Given the description of an element on the screen output the (x, y) to click on. 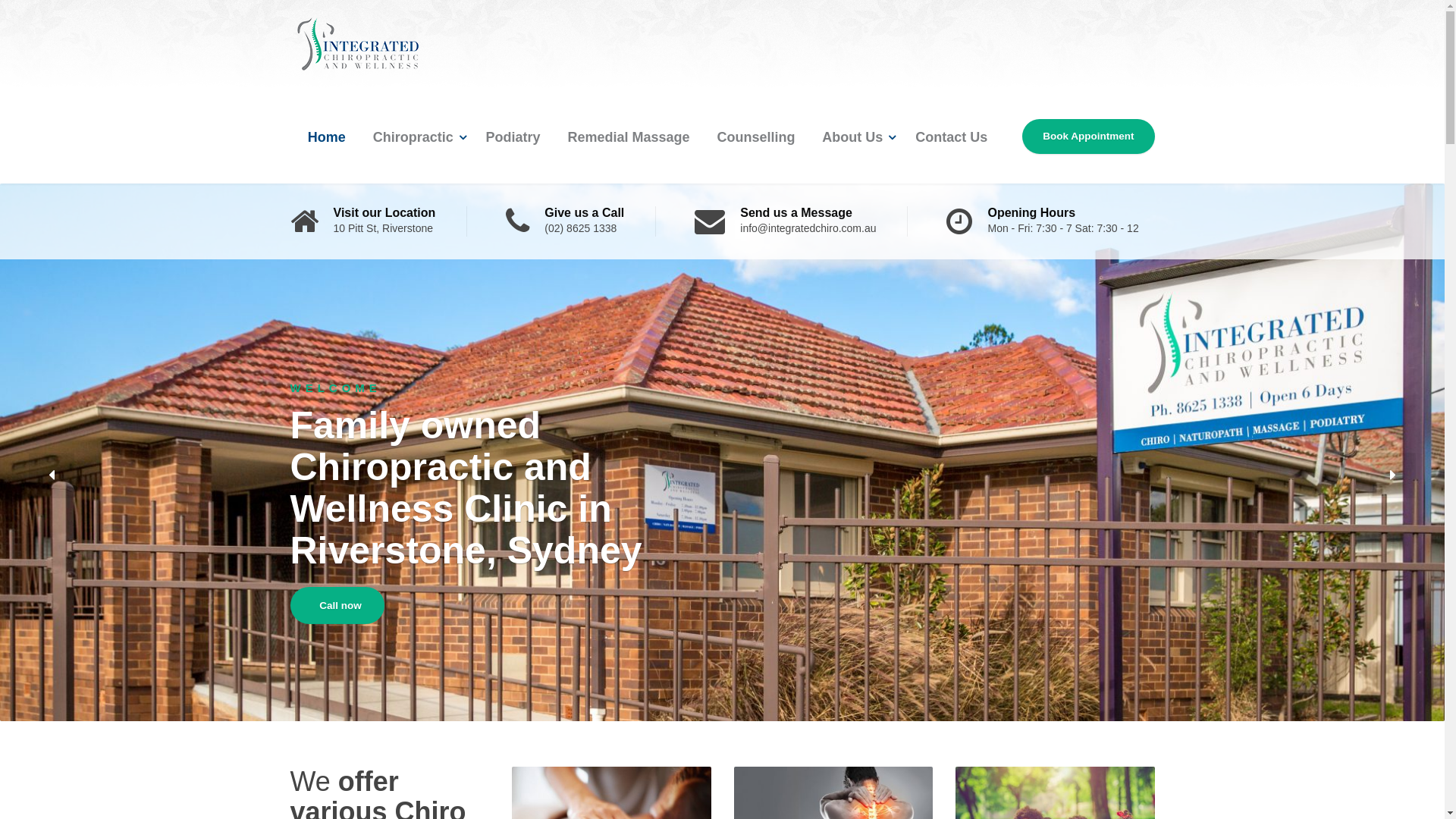
Remedial Massage Element type: text (628, 137)
About Us Element type: text (854, 137)
Integrated Chiropractic and Wellness Element type: hover (357, 40)
Counselling Element type: text (755, 137)
Podiatry Element type: text (512, 137)
Book Appointment Element type: text (1088, 136)
Contact Us Element type: text (951, 137)
Call now Element type: text (336, 605)
Chiropractic Element type: text (415, 137)
Home Element type: text (326, 137)
